Given the description of an element on the screen output the (x, y) to click on. 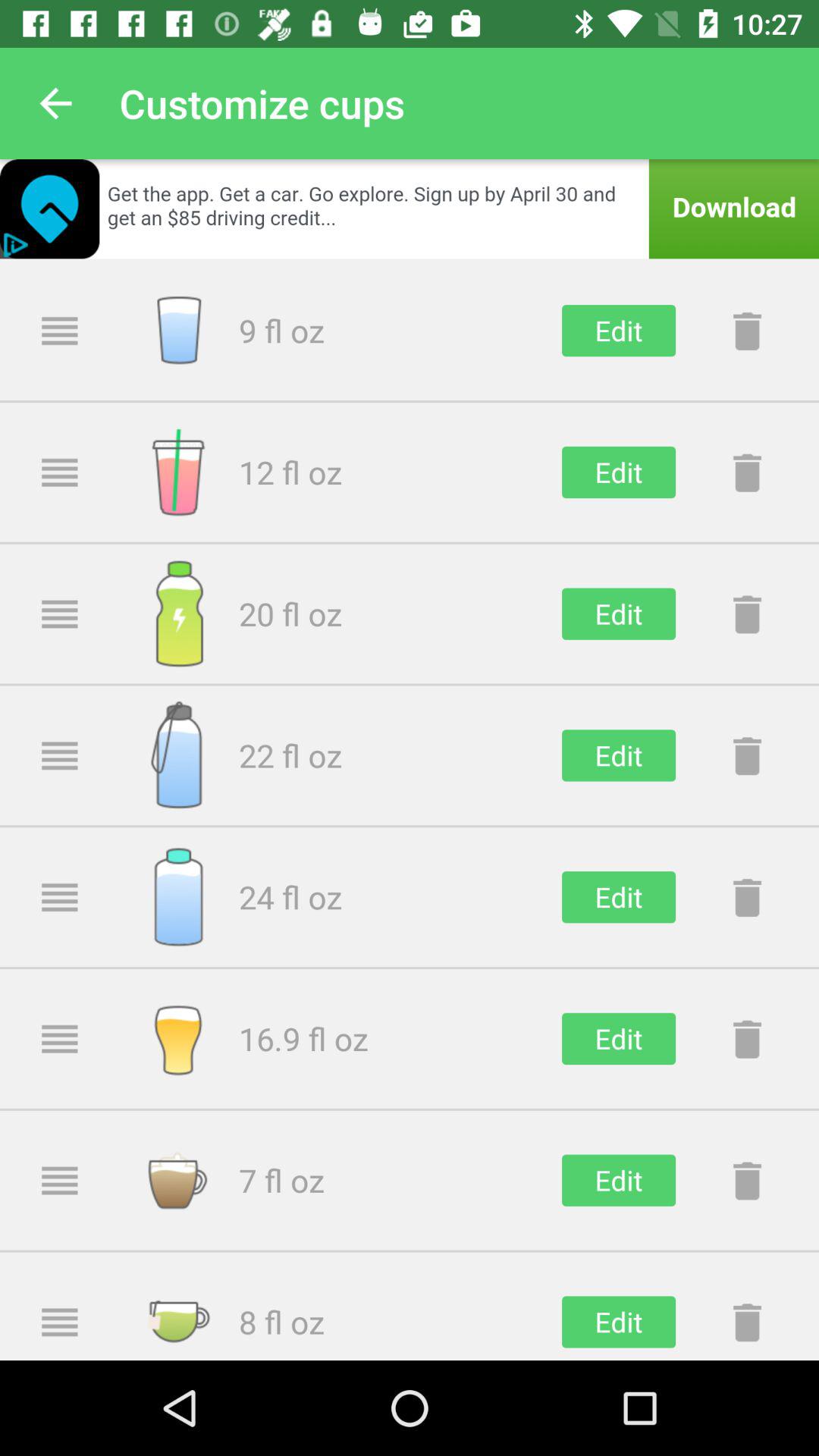
click to move to trash (747, 613)
